Given the description of an element on the screen output the (x, y) to click on. 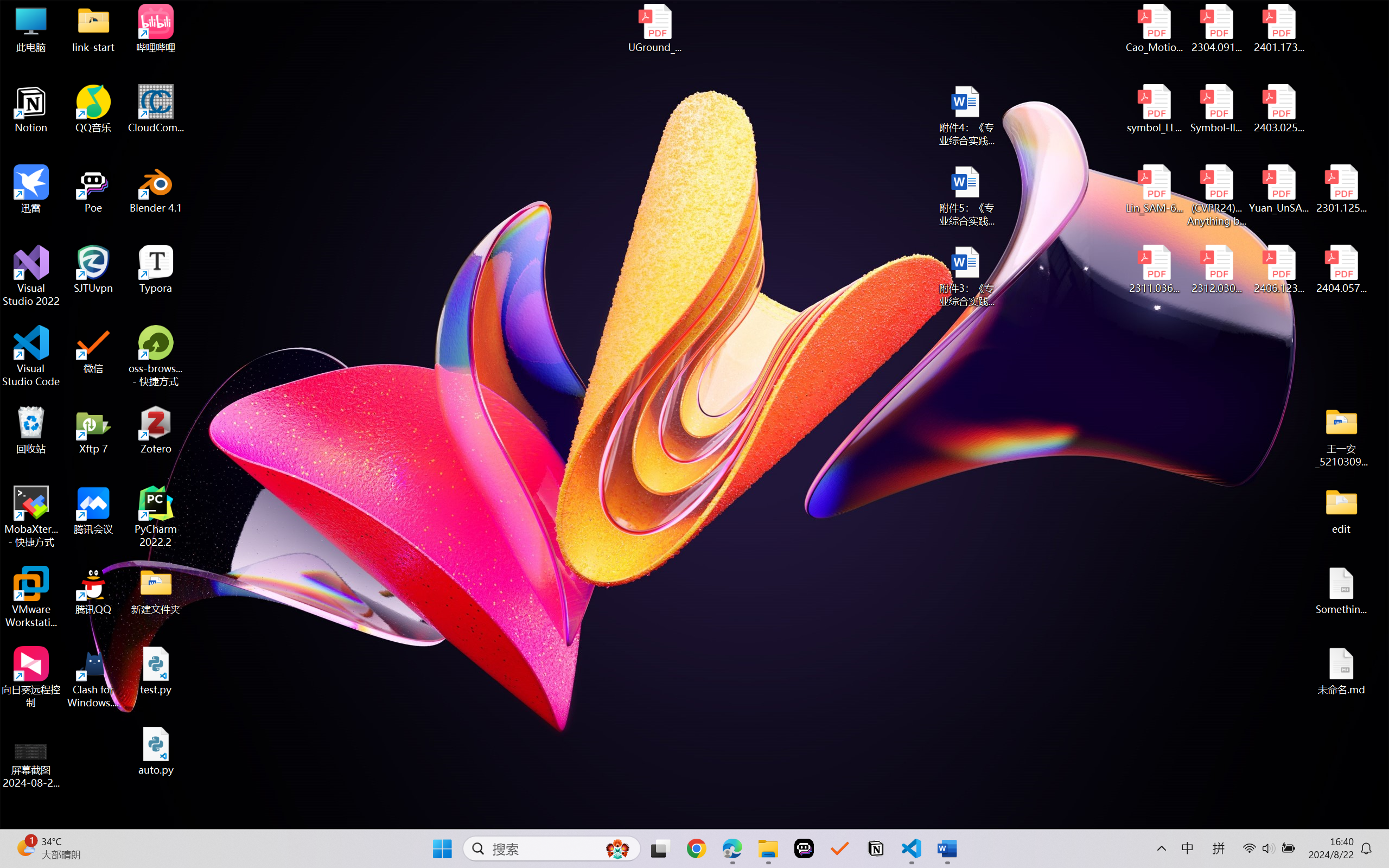
2401.17399v1.pdf (1278, 28)
Visual Studio Code (31, 355)
test.py (156, 670)
Notion (31, 109)
Visual Studio 2022 (31, 276)
Poe (804, 848)
2406.12373v2.pdf (1278, 269)
CloudCompare (156, 109)
Symbol-llm-v2.pdf (1216, 109)
